Given the description of an element on the screen output the (x, y) to click on. 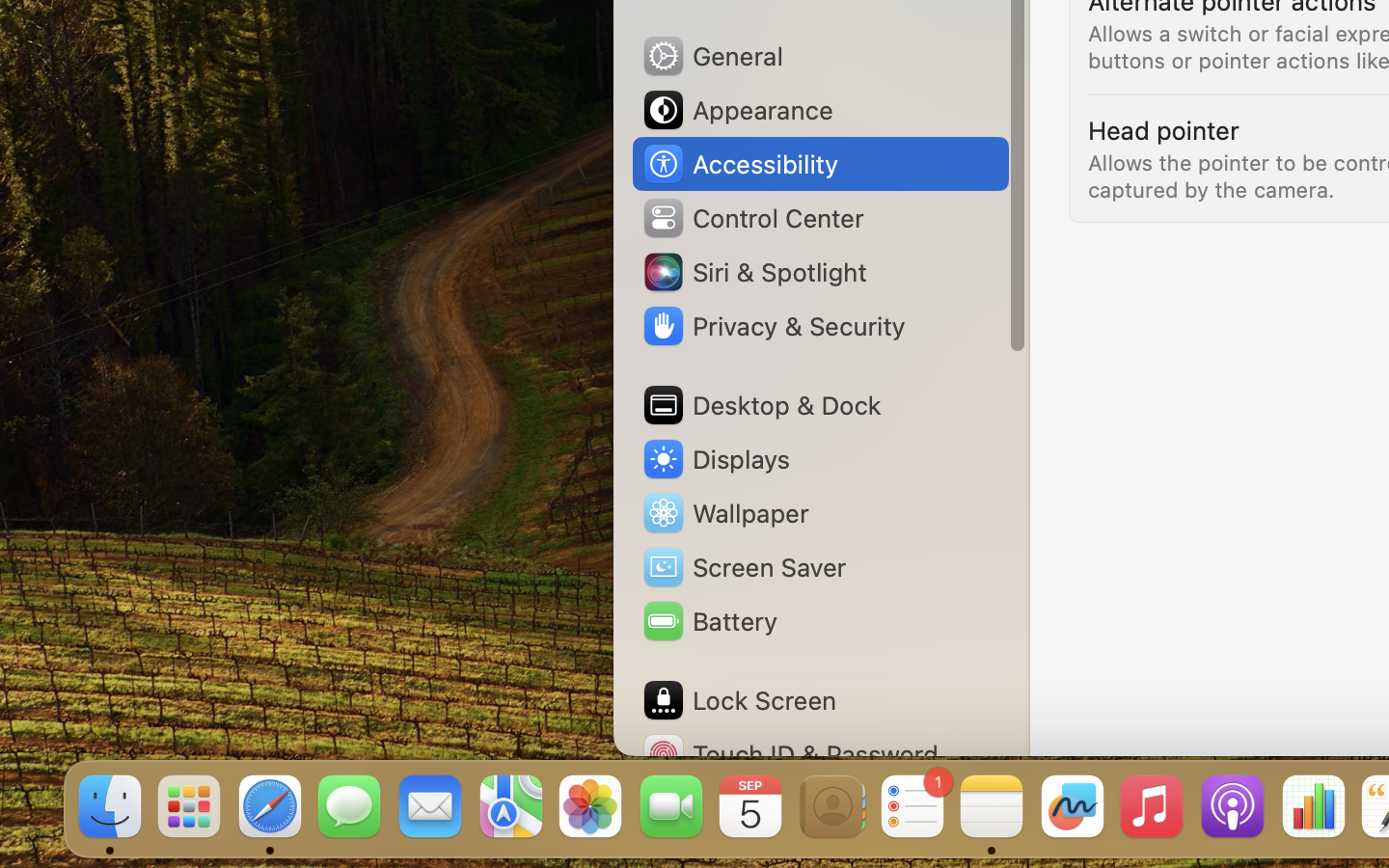
Siri & Spotlight Element type: AXStaticText (753, 271)
Control Center Element type: AXStaticText (752, 217)
Battery Element type: AXStaticText (708, 620)
Screen Saver Element type: AXStaticText (743, 566)
Desktop & Dock Element type: AXStaticText (760, 404)
